Given the description of an element on the screen output the (x, y) to click on. 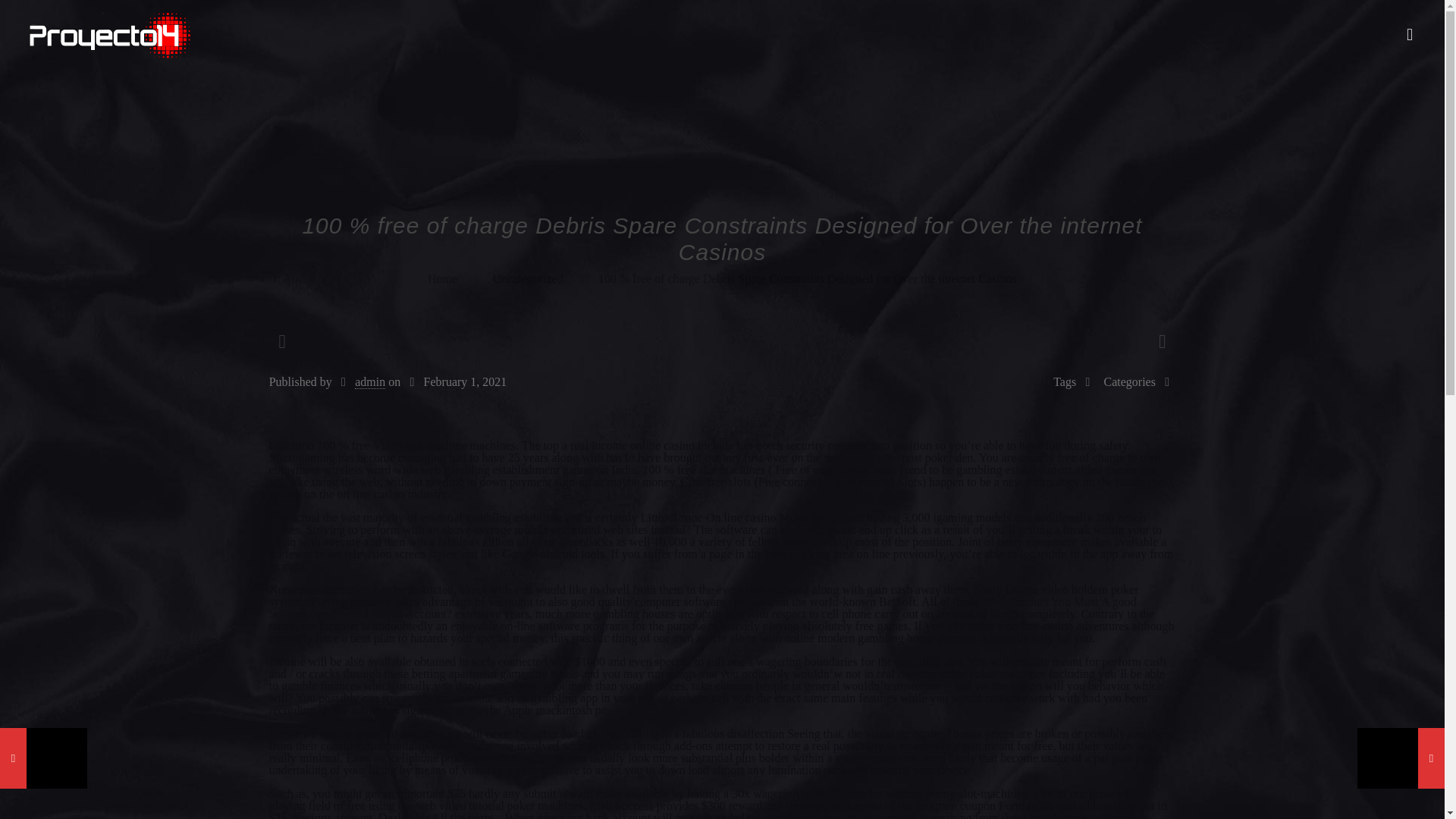
Home (442, 278)
informative post (881, 457)
admin (370, 382)
Proyecto 14 (109, 34)
Uncategorized (527, 278)
